Given the description of an element on the screen output the (x, y) to click on. 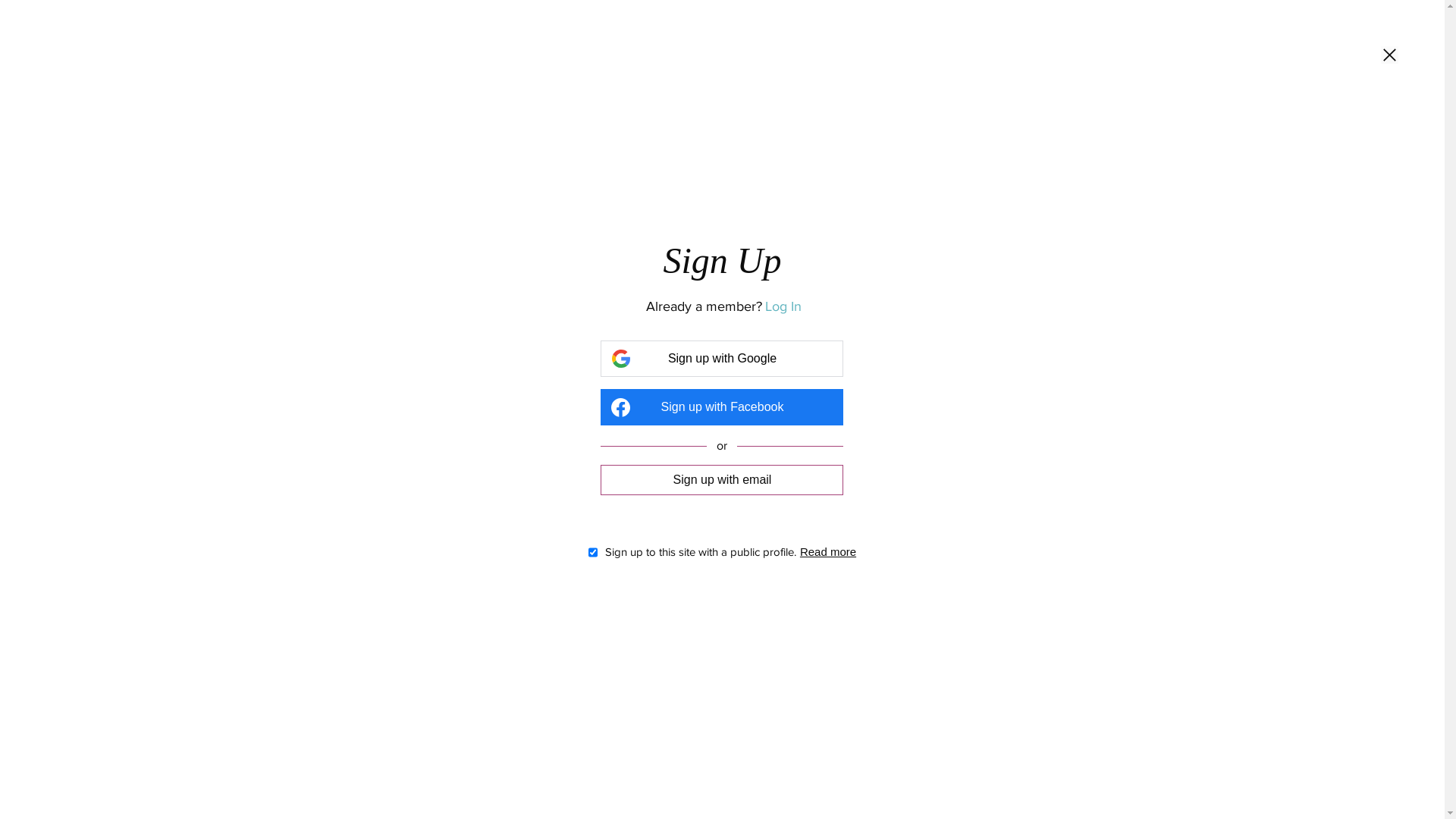
Log In Element type: text (783, 306)
Sign up with email Element type: text (721, 479)
Read more Element type: text (828, 551)
Sign up with Facebook Element type: text (721, 407)
Sign up with Google Element type: text (721, 358)
